Given the description of an element on the screen output the (x, y) to click on. 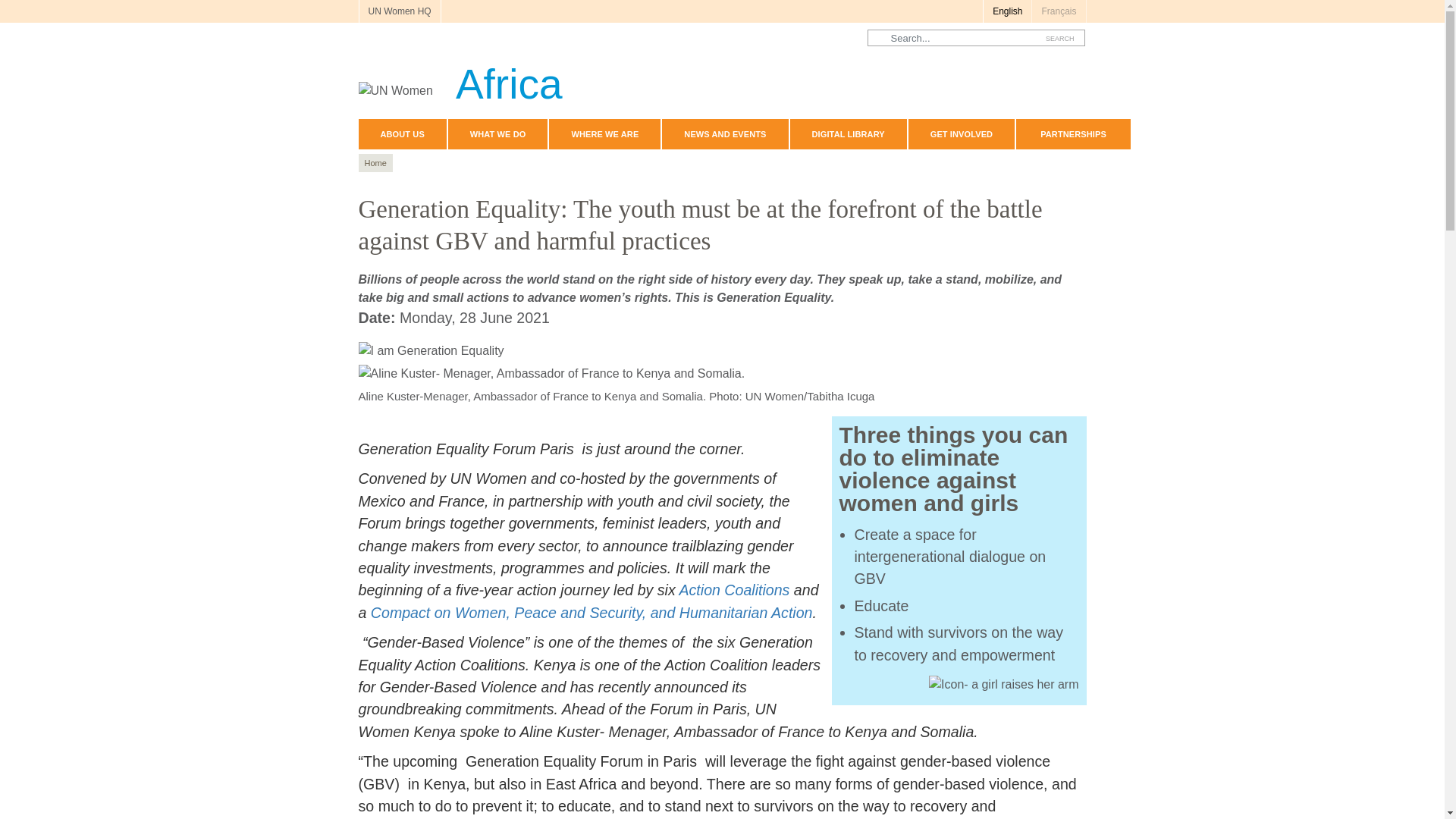
Search (1060, 38)
Search (1060, 38)
ABOUT US (401, 132)
UN Women (460, 76)
English (1006, 11)
WHAT WE DO (498, 132)
Africa (460, 76)
UN Women HQ (399, 11)
